Given the description of an element on the screen output the (x, y) to click on. 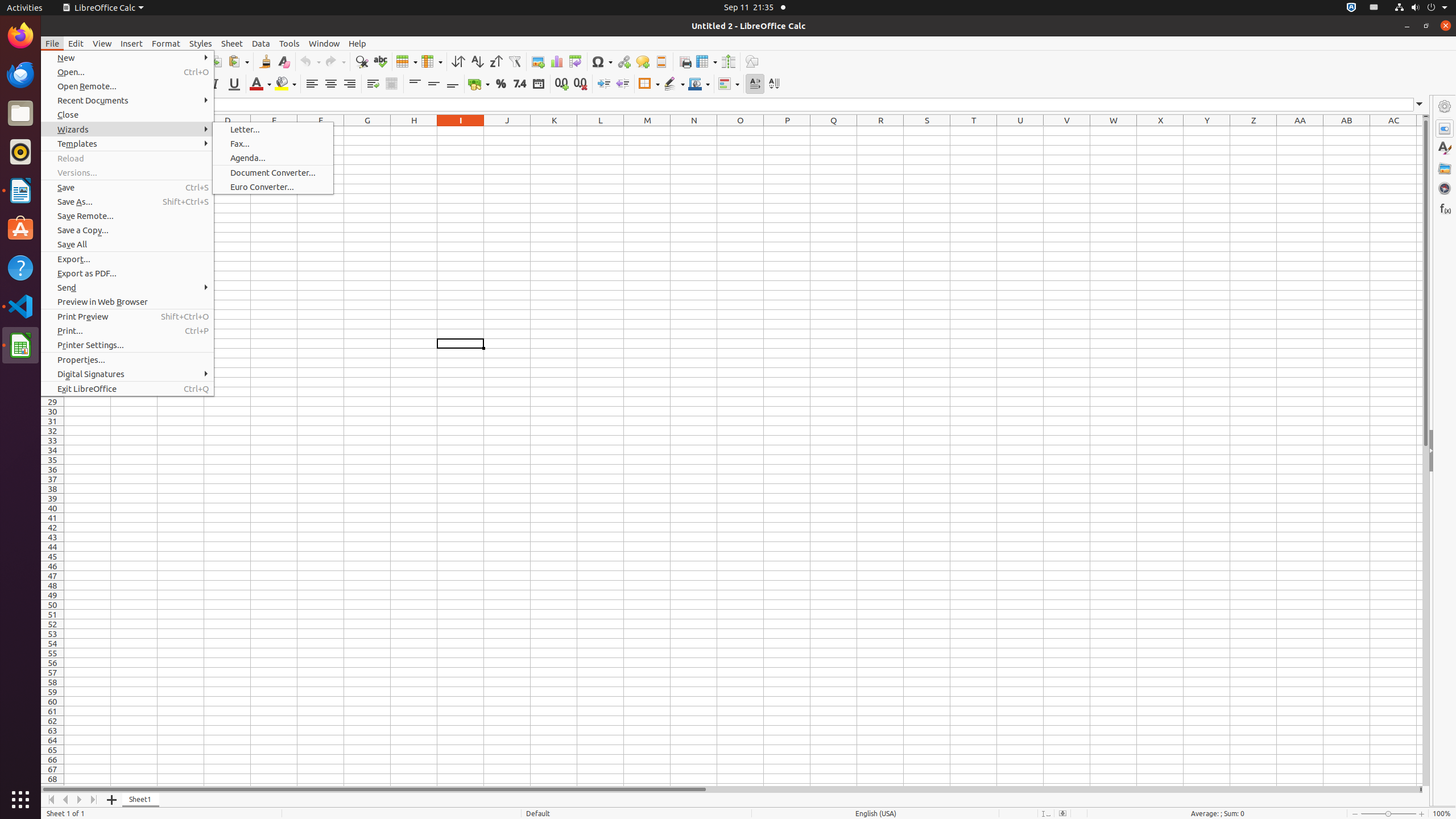
Merge and Center Cells Element type: push-button (391, 83)
Add Decimal Place Element type: push-button (561, 83)
Wizards Element type: menu (126, 129)
File Element type: menu (51, 43)
Fax... Element type: menu-item (272, 143)
